Given the description of an element on the screen output the (x, y) to click on. 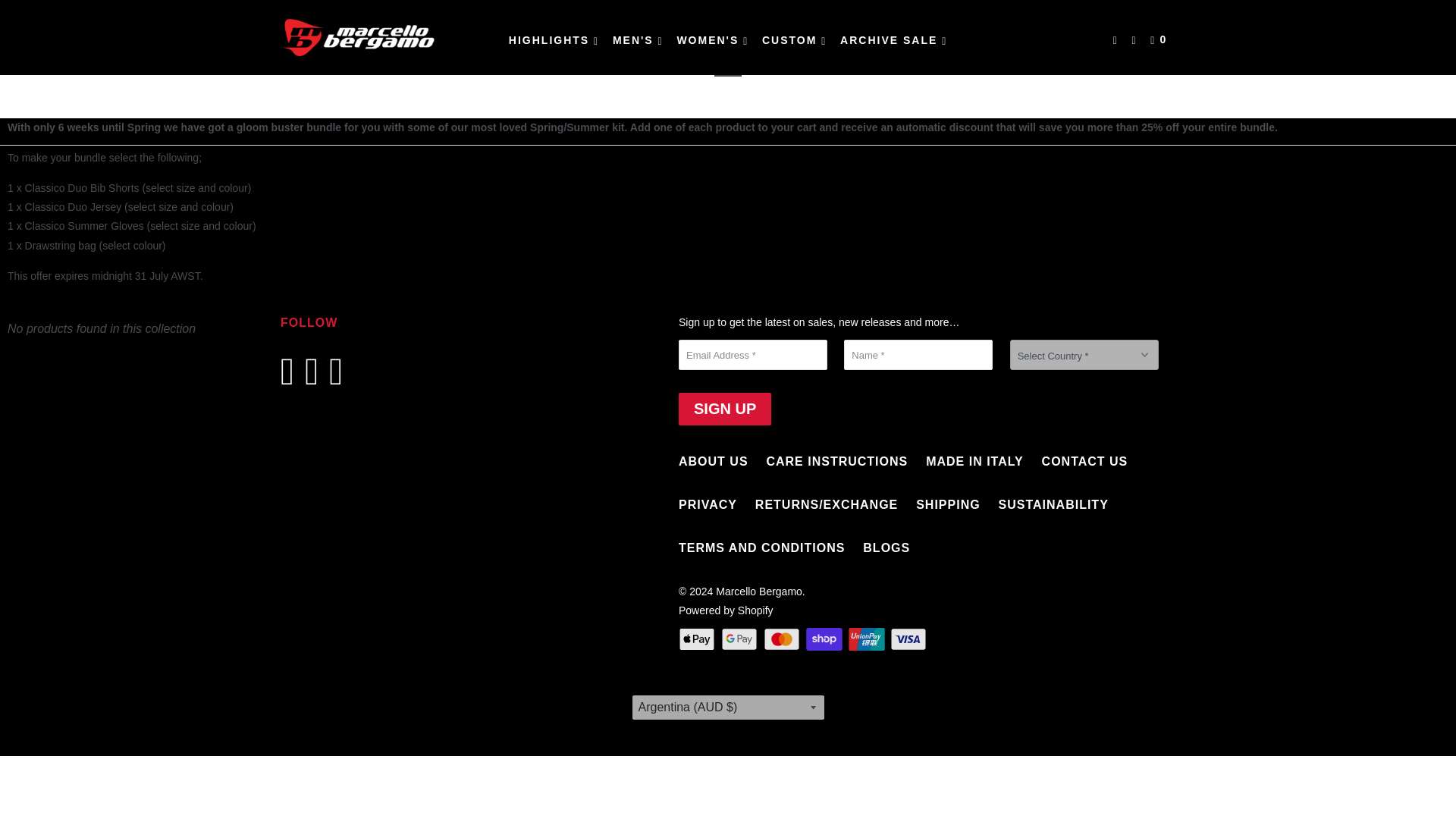
SIGN UP (724, 409)
Visa (909, 639)
Shop Pay (825, 639)
Union Pay (868, 639)
Marcello Bergamo (358, 37)
Mastercard (782, 639)
Google Pay (740, 639)
Apple Pay (697, 639)
